Given the description of an element on the screen output the (x, y) to click on. 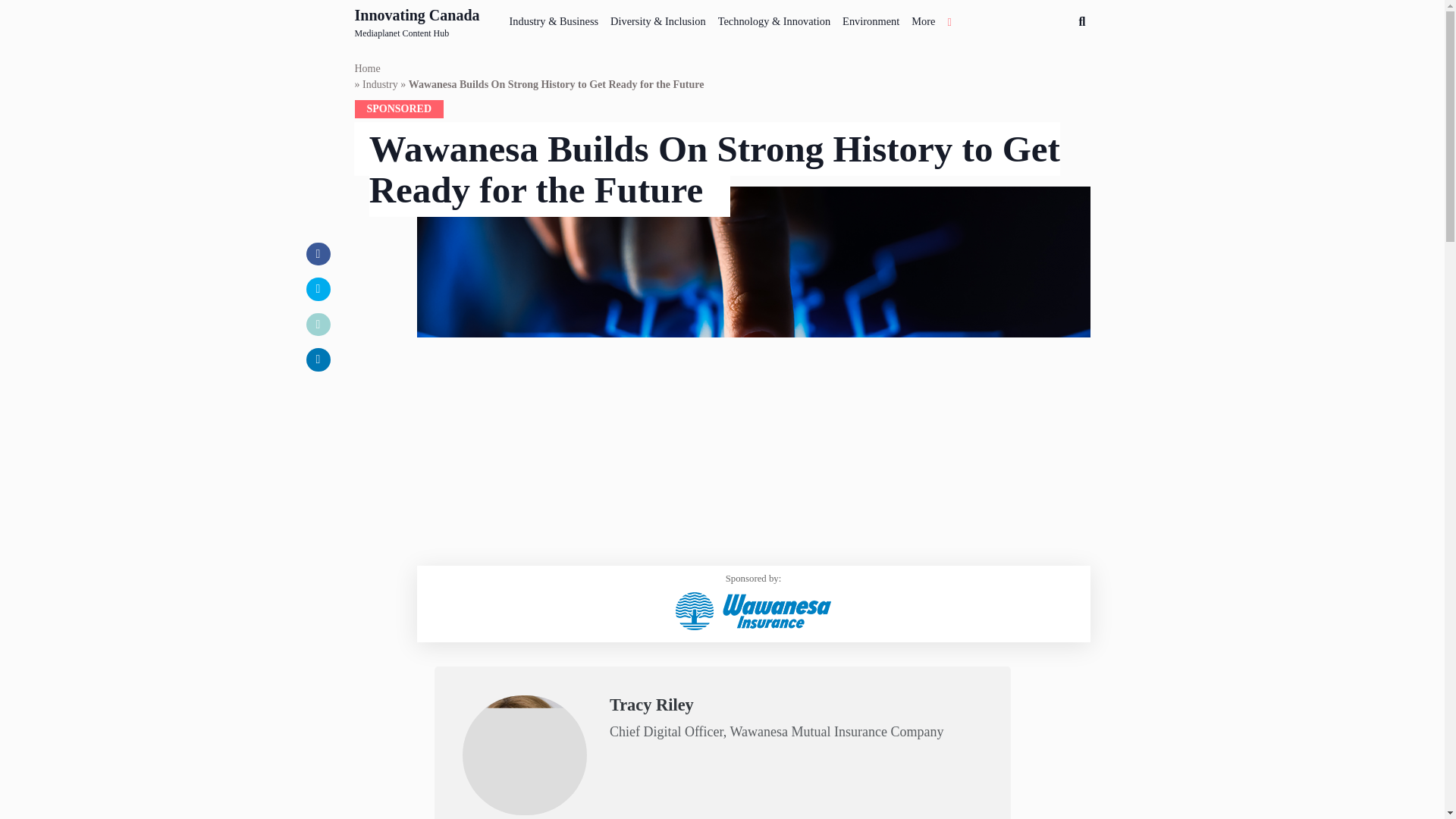
More (417, 22)
Environment (922, 18)
